Given the description of an element on the screen output the (x, y) to click on. 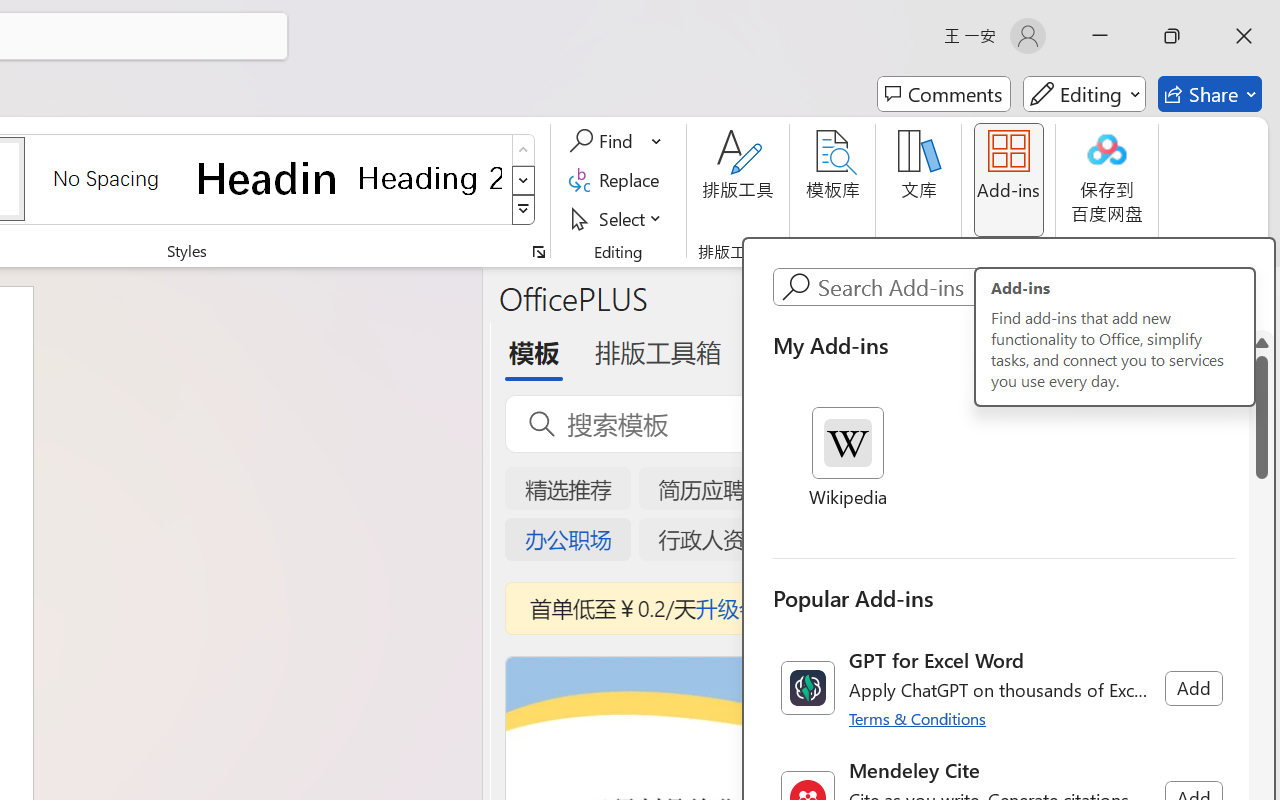
Line up (1261, 342)
Heading 2 (429, 178)
Row Down (523, 180)
Minimize (1099, 36)
GPT for Excel Word (1004, 688)
Select (618, 218)
Wikipedia (847, 459)
Add (1193, 688)
Styles... (538, 252)
Heading 1 (267, 178)
Styles (523, 209)
